Given the description of an element on the screen output the (x, y) to click on. 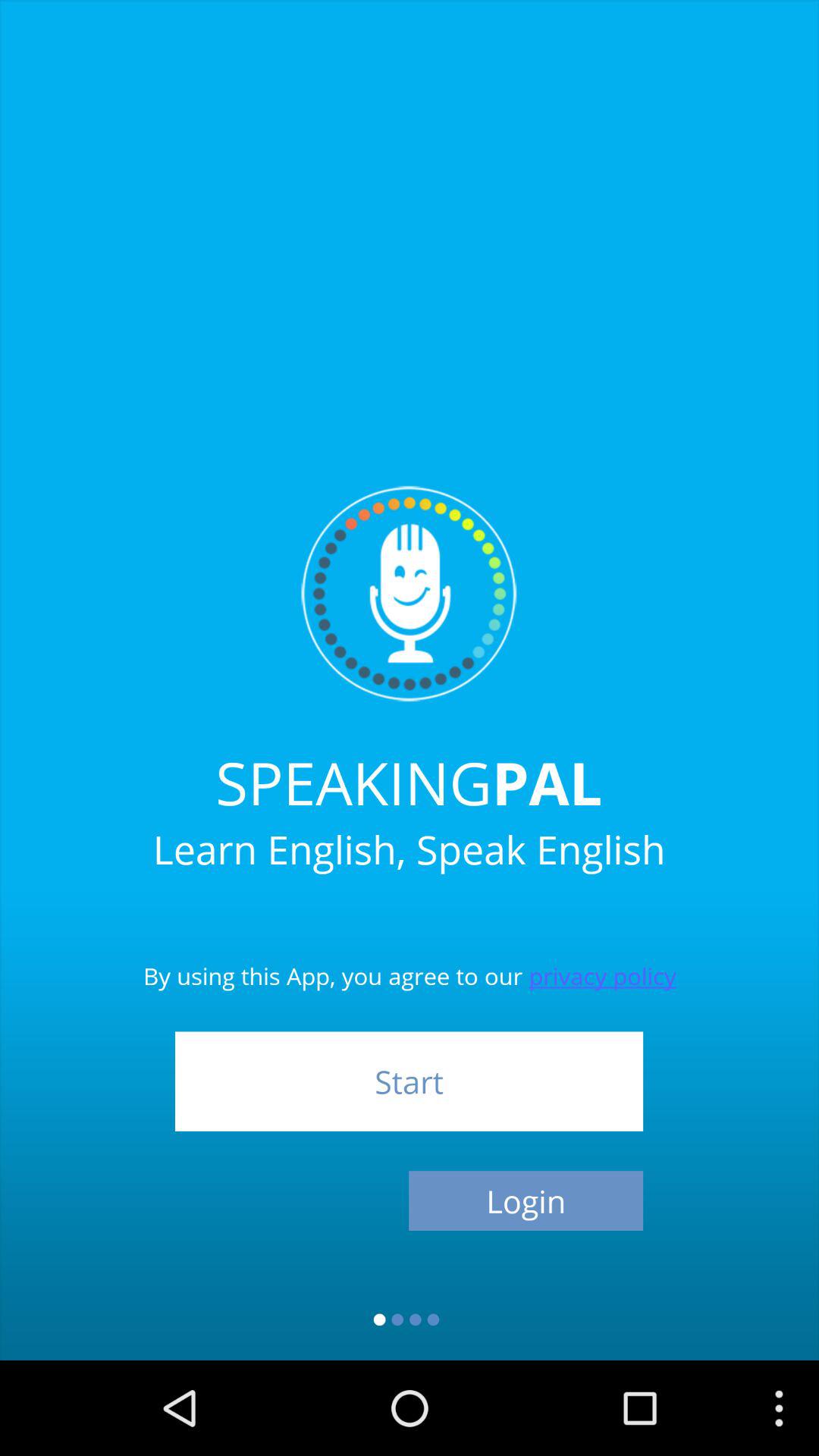
flip to the start icon (409, 1081)
